Given the description of an element on the screen output the (x, y) to click on. 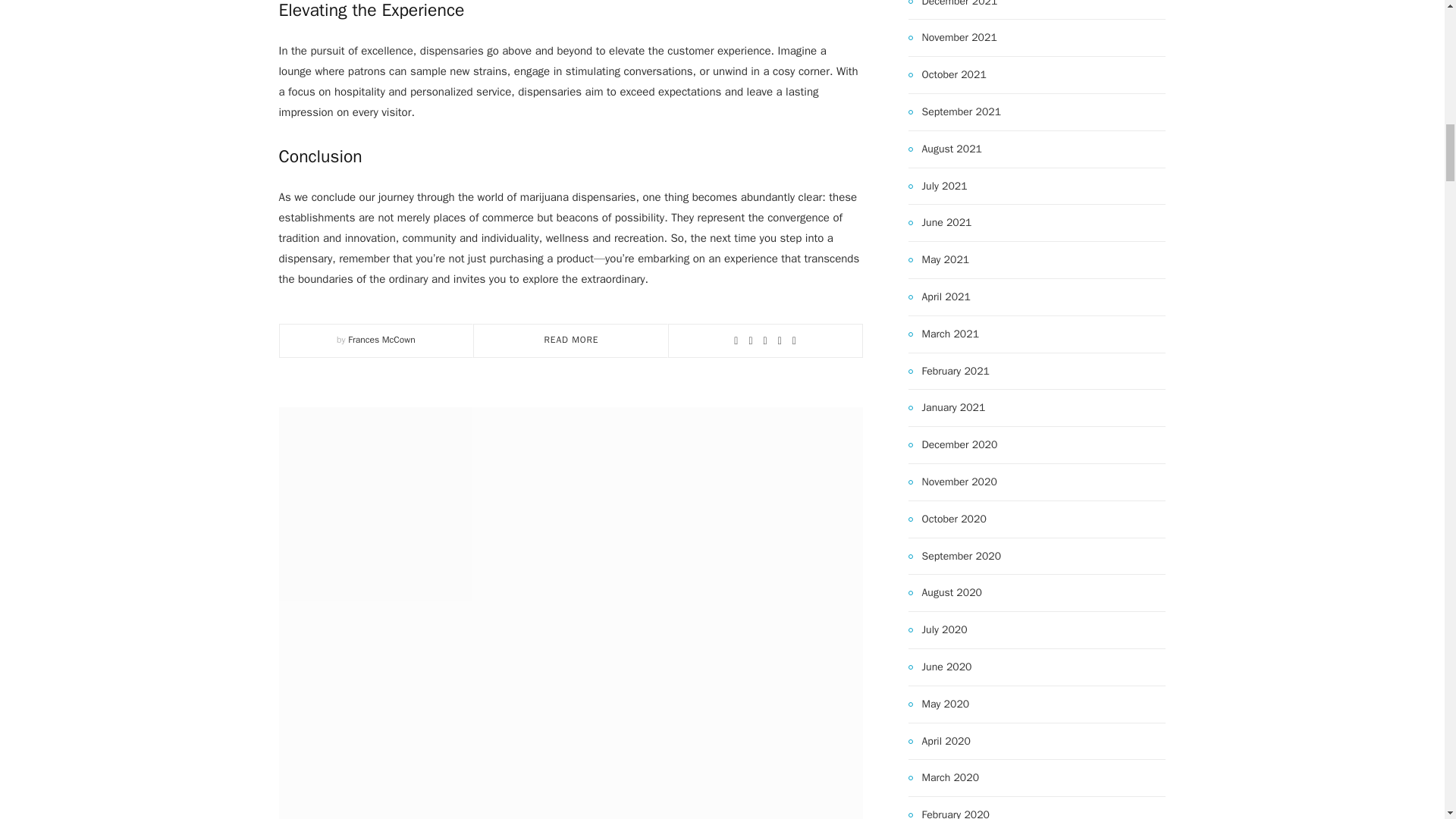
Posts by Frances McCown (380, 339)
Frances McCown (380, 339)
READ MORE (571, 339)
